Given the description of an element on the screen output the (x, y) to click on. 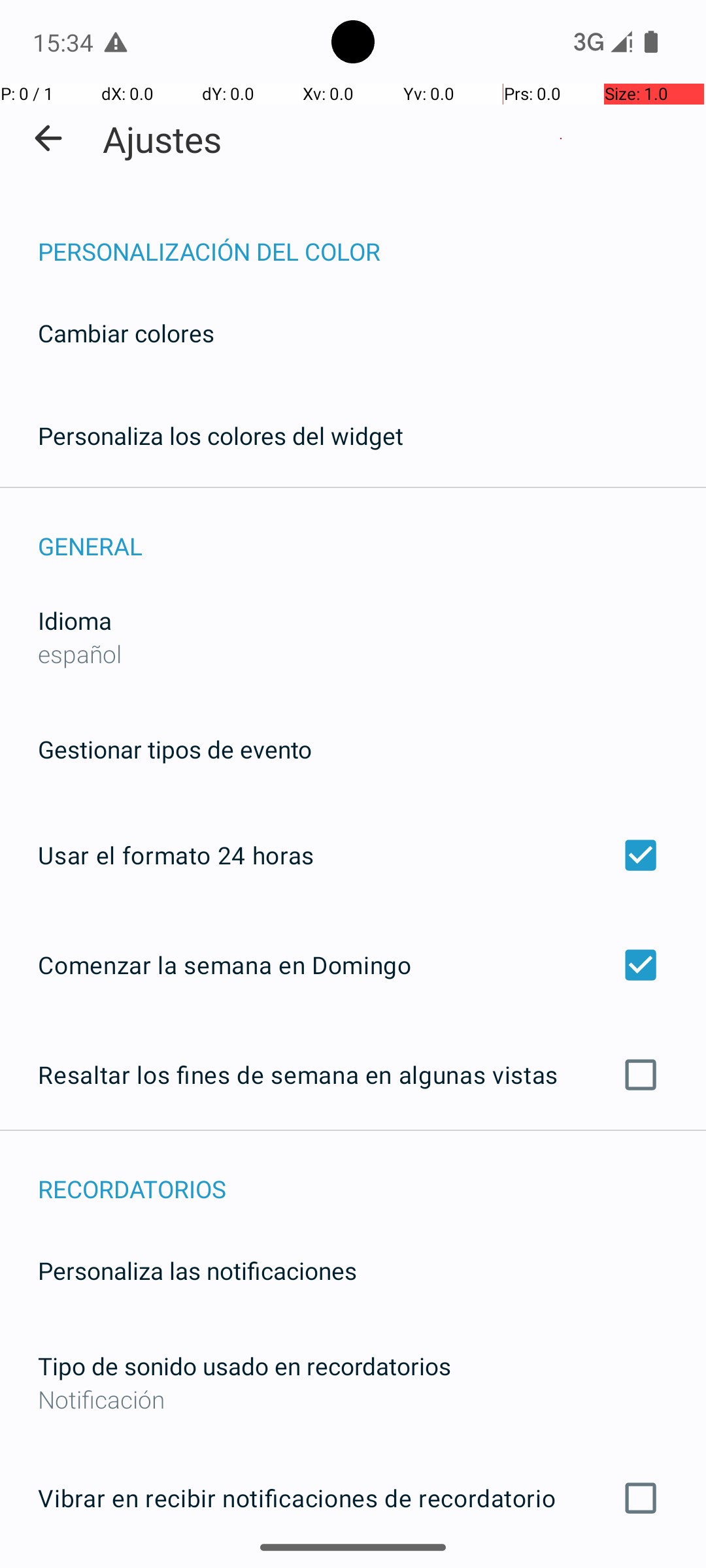
PERSONALIZACIÓN DEL COLOR Element type: android.widget.TextView (371, 237)
GENERAL Element type: android.widget.TextView (371, 532)
RECORDATORIOS Element type: android.widget.TextView (371, 1174)
Cambiar colores Element type: android.widget.TextView (125, 332)
Personaliza los colores del widget Element type: android.widget.TextView (220, 435)
Idioma Element type: android.widget.TextView (74, 620)
español Element type: android.widget.TextView (79, 653)
Gestionar tipos de evento Element type: android.widget.TextView (174, 748)
Usar el formato 24 horas Element type: android.widget.CheckBox (352, 855)
Comenzar la semana en Domingo Element type: android.widget.CheckBox (352, 964)
Resaltar los fines de semana en algunas vistas Element type: android.widget.CheckBox (352, 1074)
Personaliza las notificaciones Element type: android.widget.TextView (196, 1270)
Tipo de sonido usado en recordatorios Element type: android.widget.TextView (244, 1365)
Notificación Element type: android.widget.TextView (352, 1398)
Vibrar en recibir notificaciones de recordatorio Element type: android.widget.CheckBox (352, 1497)
Repetir recordatorios hasta ser descartados Element type: android.widget.CheckBox (352, 1567)
